Given the description of an element on the screen output the (x, y) to click on. 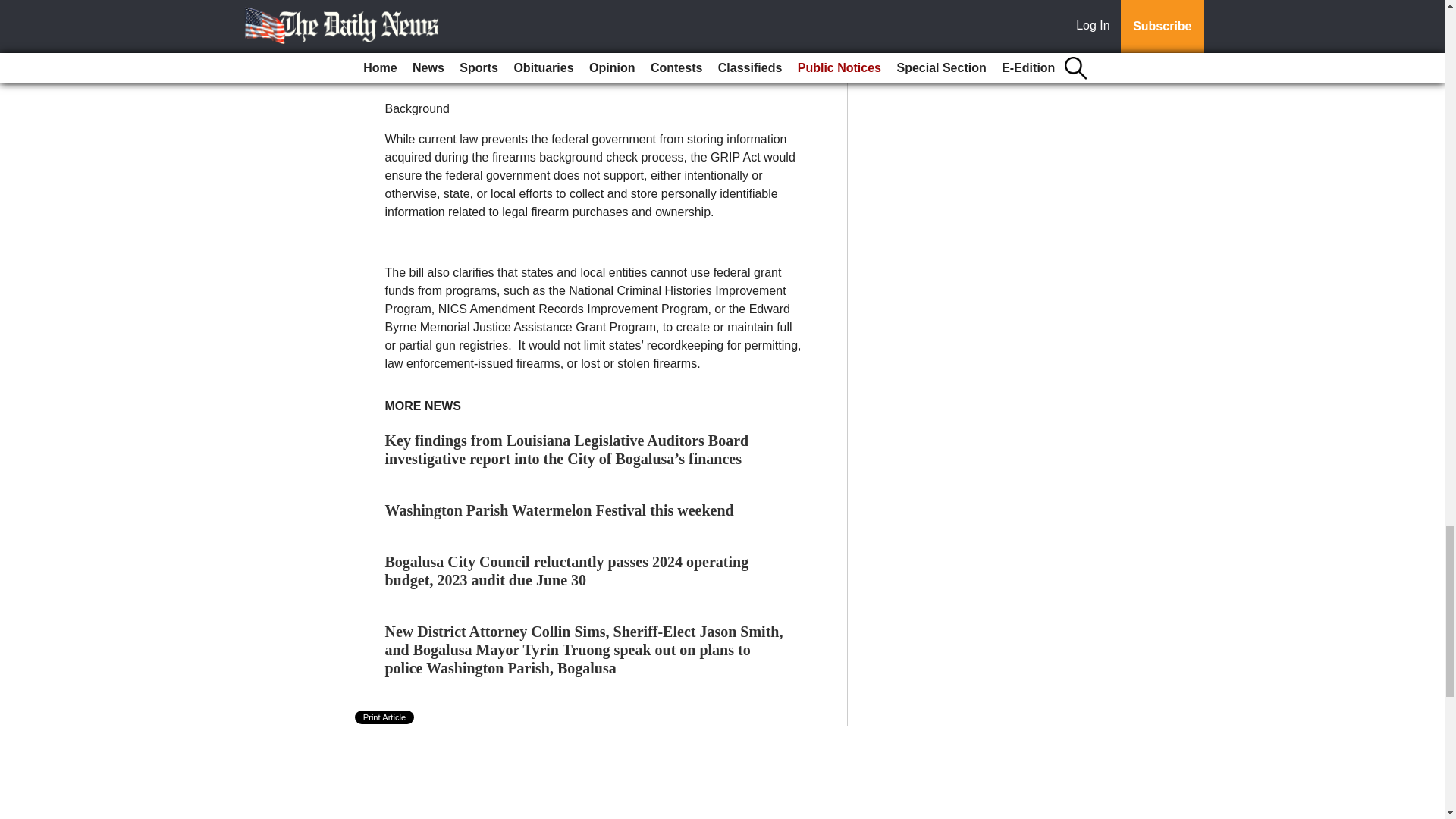
Washington Parish Watermelon Festival this weekend (559, 510)
Print Article (384, 716)
Washington Parish Watermelon Festival this weekend (559, 510)
